Given the description of an element on the screen output the (x, y) to click on. 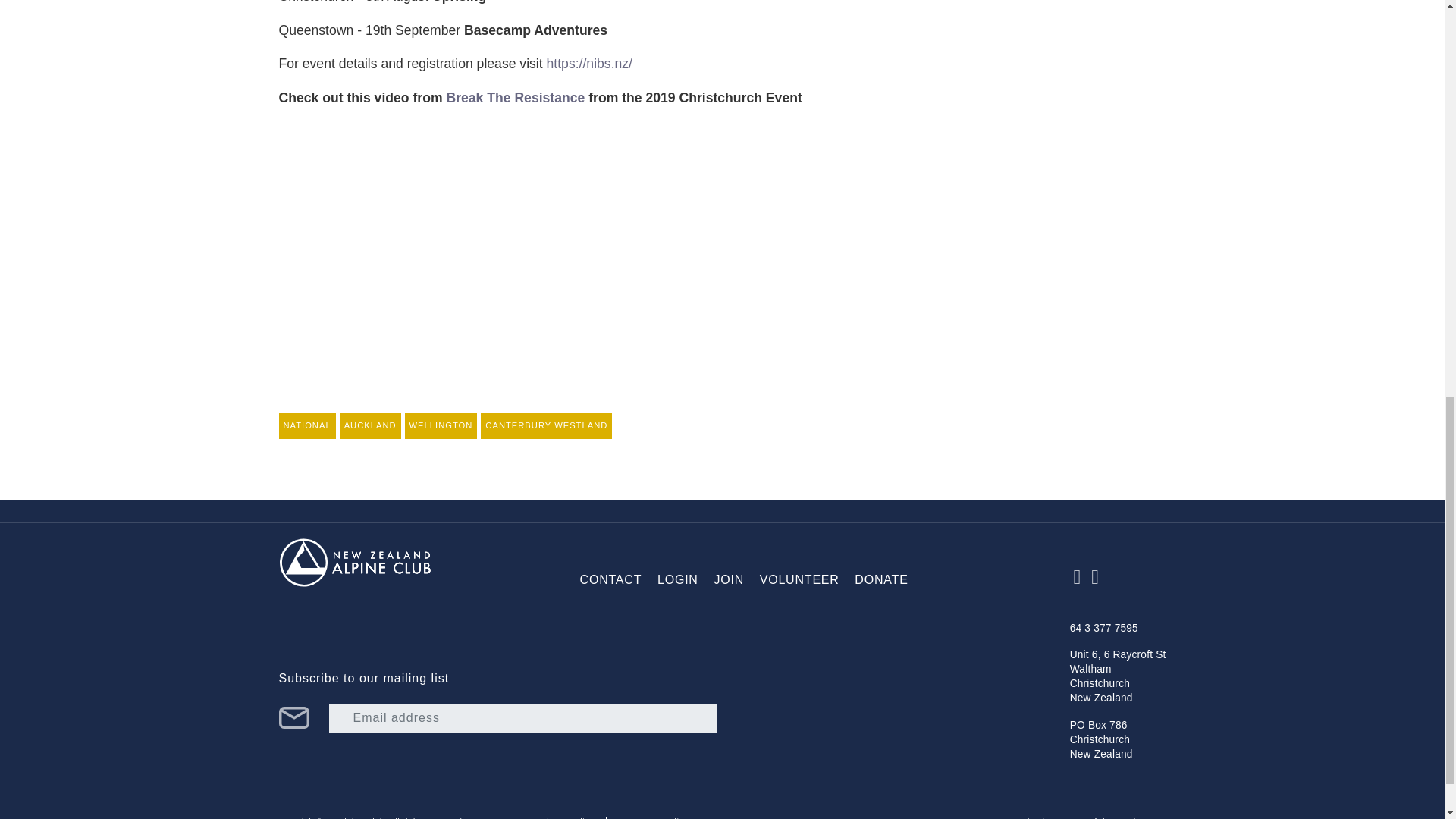
Subscribe (293, 717)
